Given the description of an element on the screen output the (x, y) to click on. 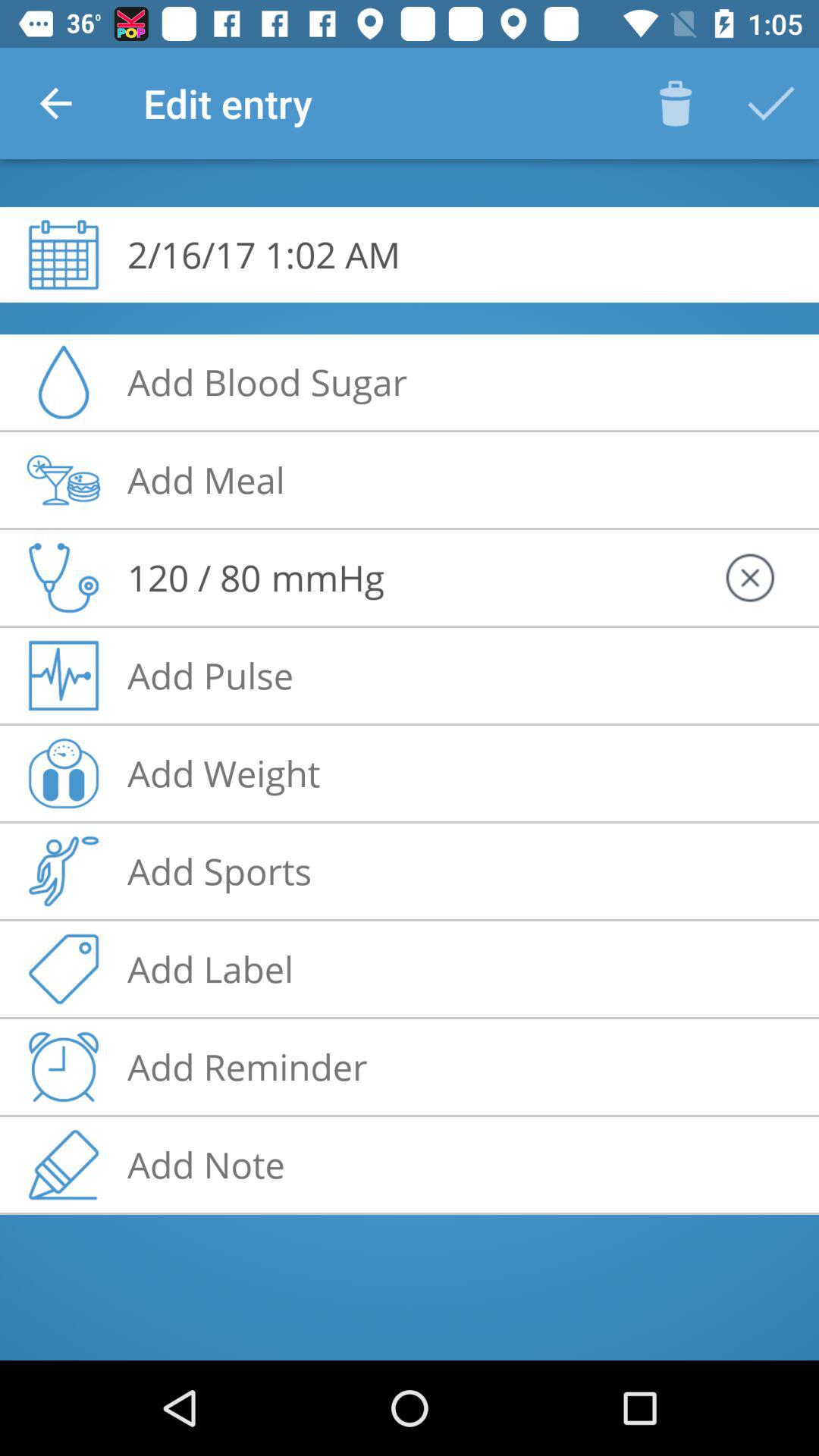
tap the icon to the left of edit entry icon (55, 103)
